Given the description of an element on the screen output the (x, y) to click on. 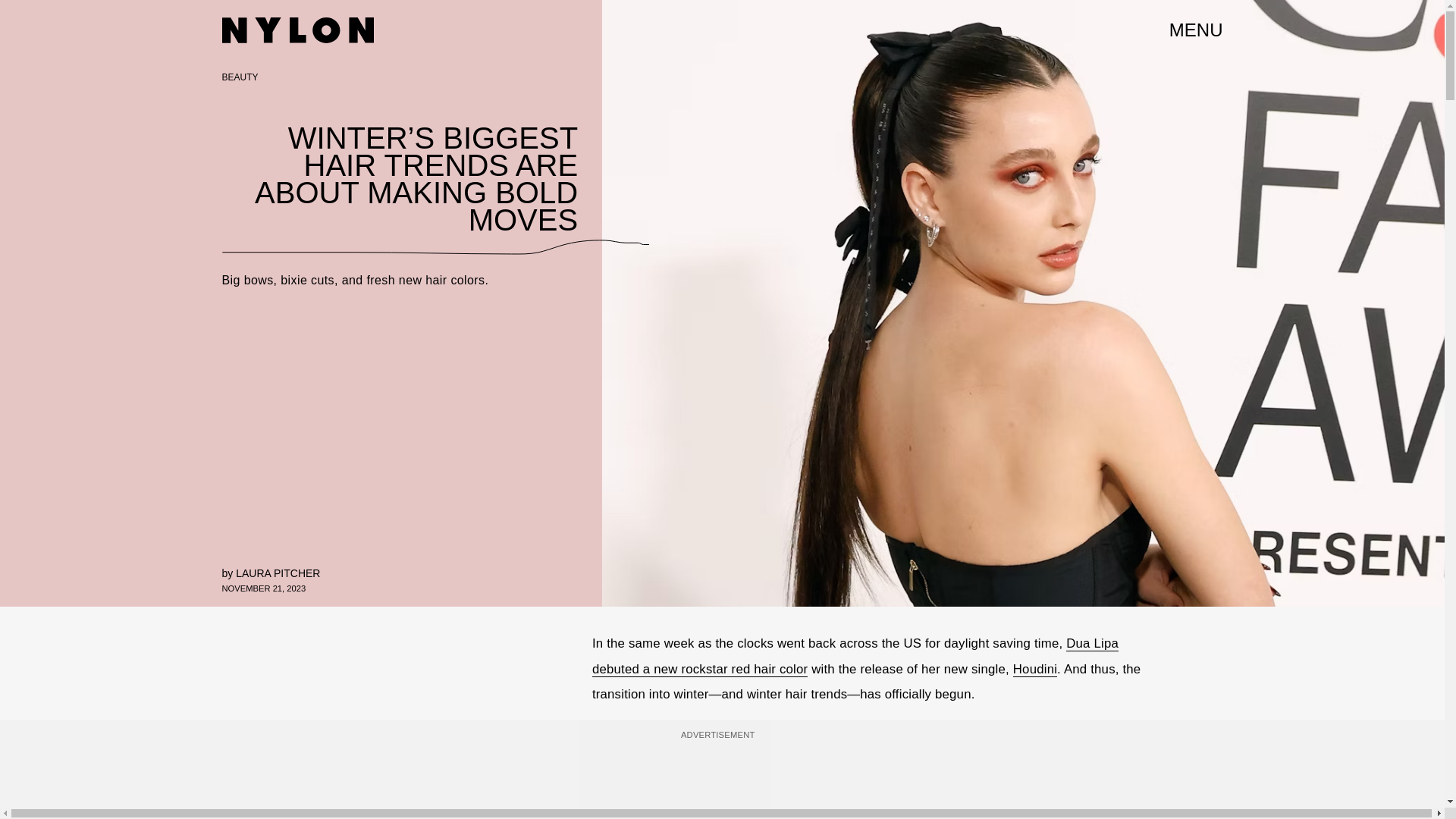
Nylon (296, 30)
LAURA PITCHER (277, 573)
Dua Lipa debuted a new rockstar red hair color (855, 656)
Houdini (1035, 669)
